Given the description of an element on the screen output the (x, y) to click on. 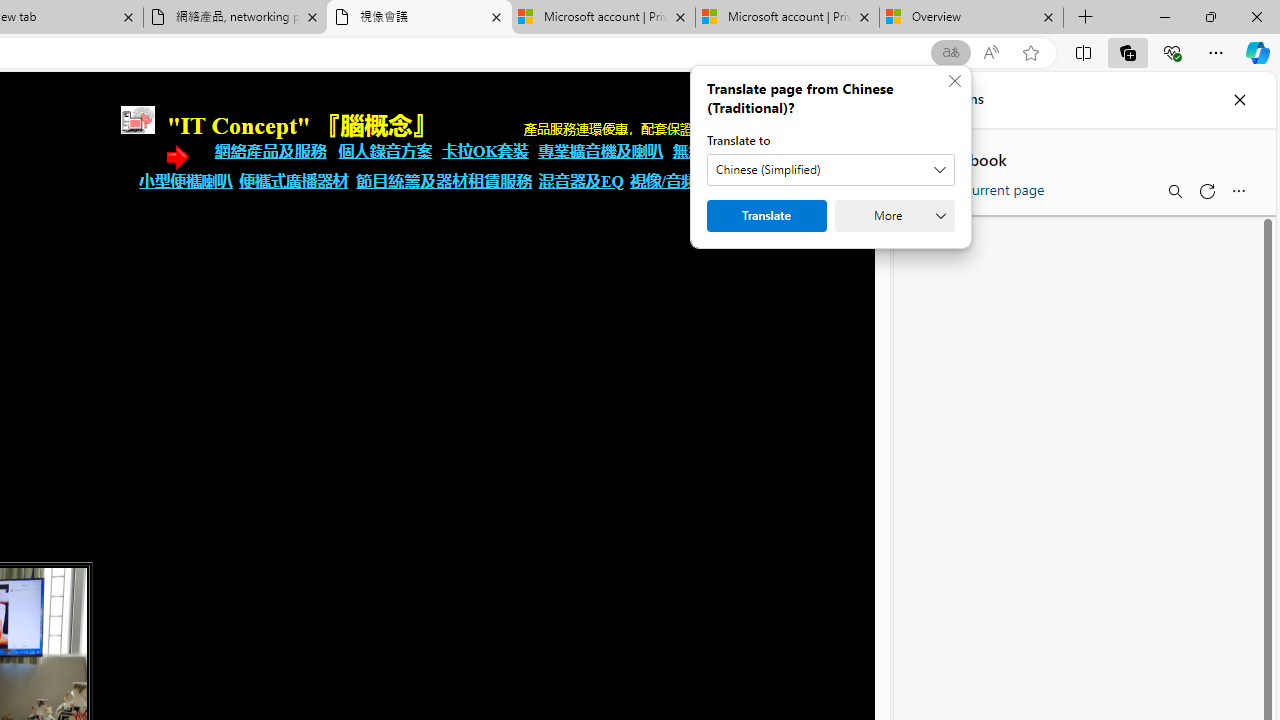
More options menu (1238, 190)
Show translate options (950, 53)
Back to list of collections (920, 158)
Translate (766, 215)
Overview (971, 17)
